Given the description of an element on the screen output the (x, y) to click on. 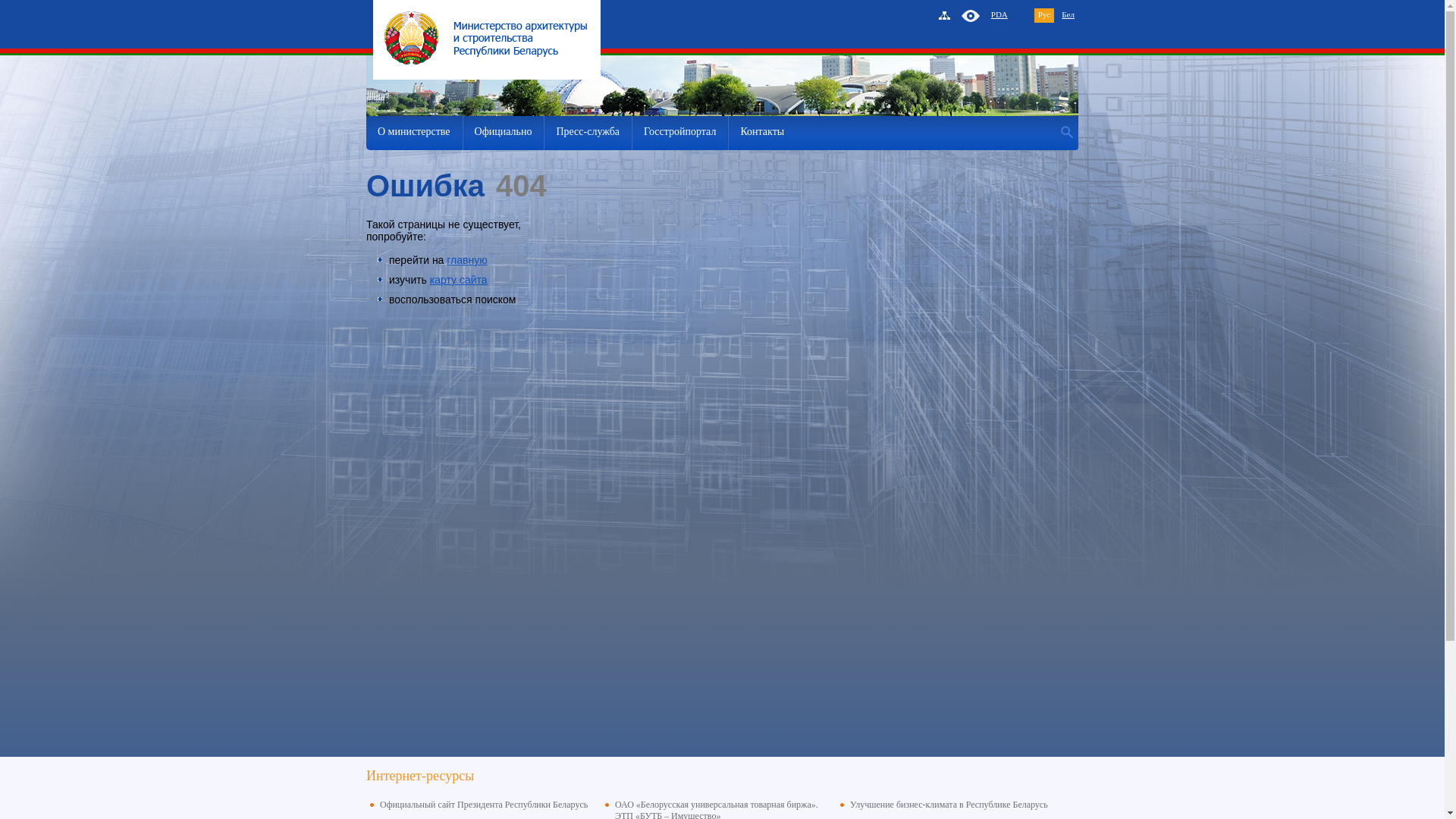
PDA Element type: text (999, 13)
